Given the description of an element on the screen output the (x, y) to click on. 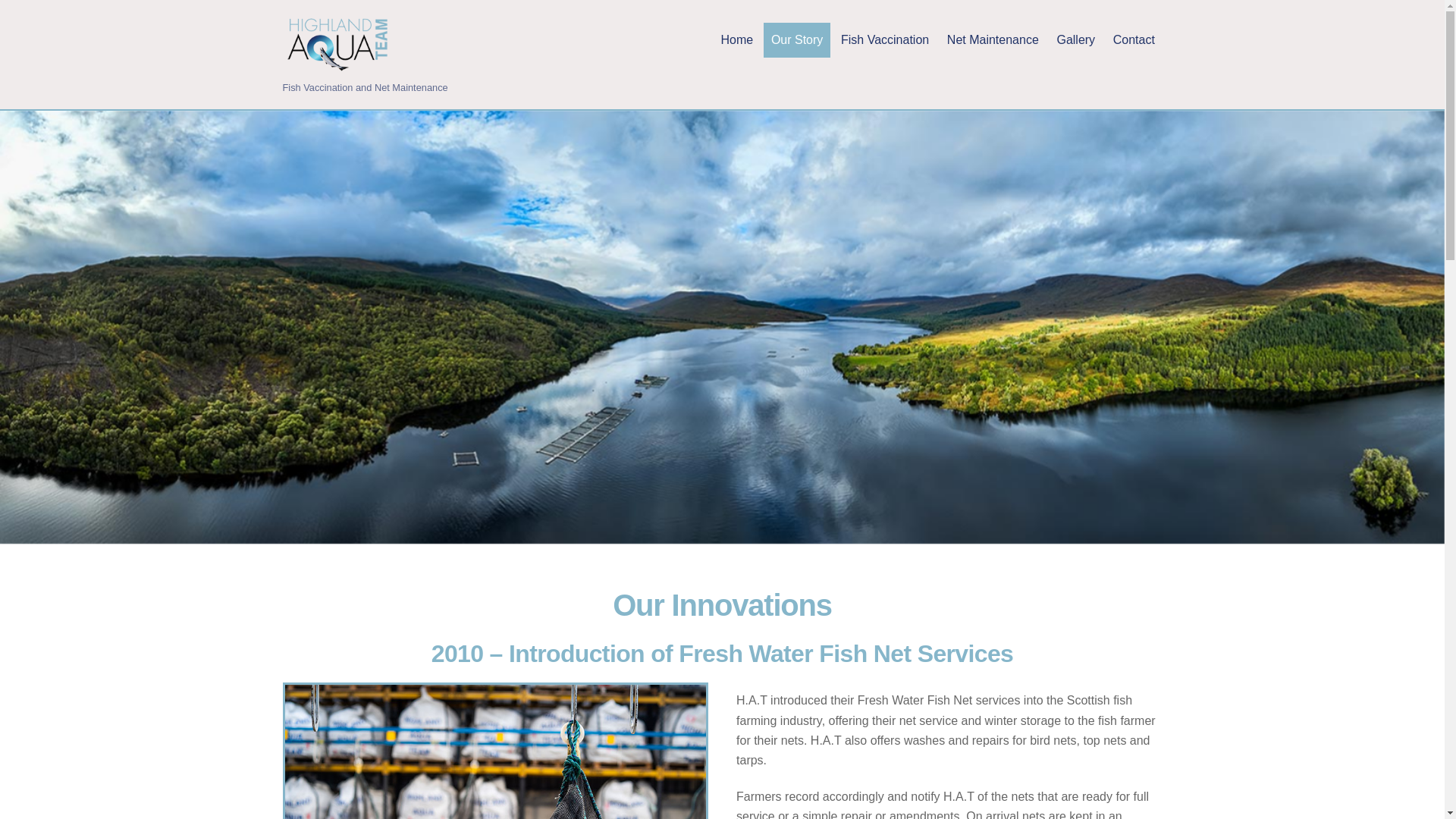
Highland Aqua Team (339, 65)
Home (736, 39)
Our Story (795, 39)
Contact (1133, 39)
Highland Aqua Team (339, 43)
Gallery (1075, 39)
Net Maintenance (992, 39)
Fish Vaccination (884, 39)
About (495, 751)
